Given the description of an element on the screen output the (x, y) to click on. 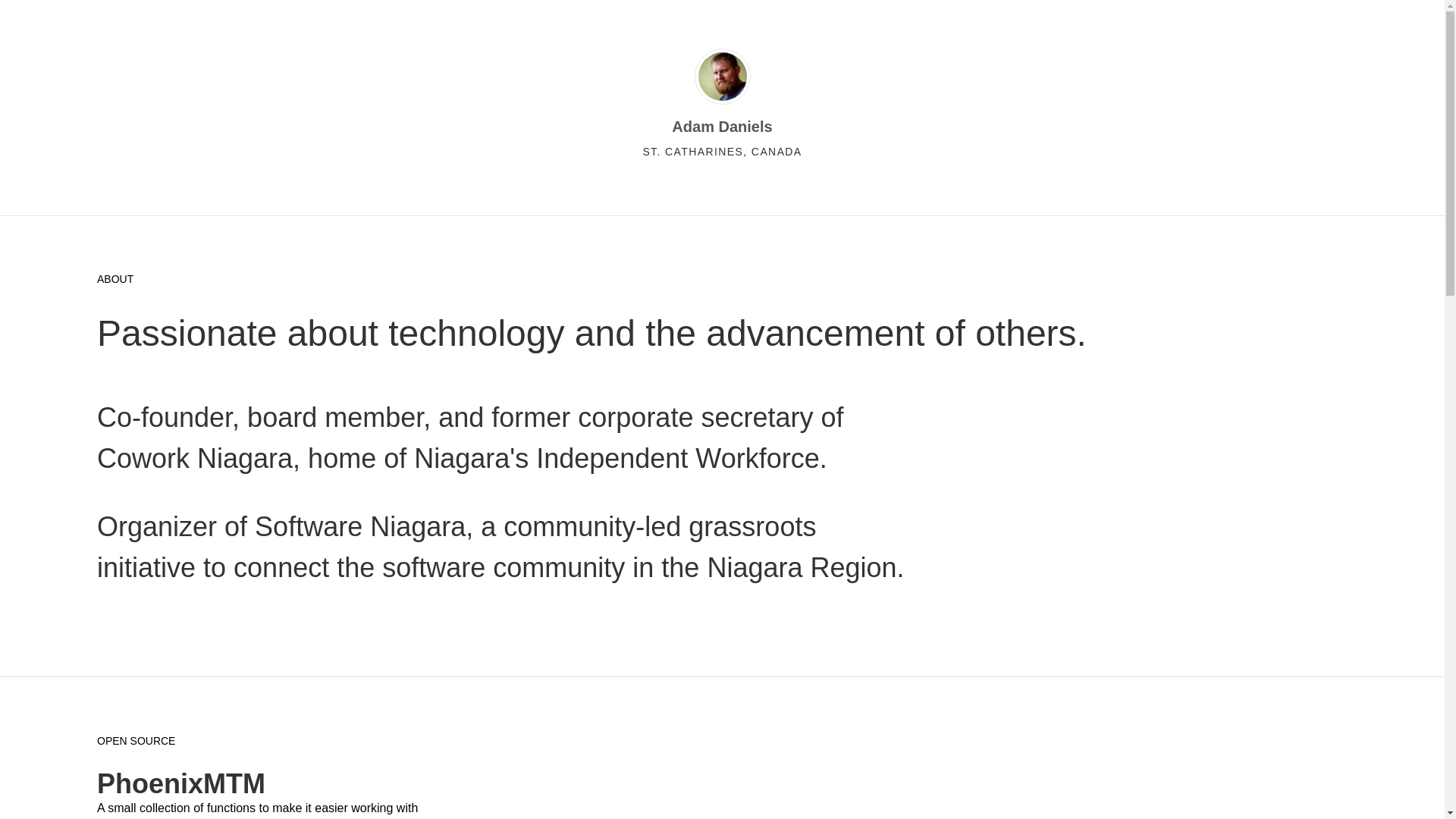
PhoenixMTM Element type: text (181, 782)
Cowork Niagara Element type: text (194, 457)
Software Niagara Element type: text (359, 526)
